Given the description of an element on the screen output the (x, y) to click on. 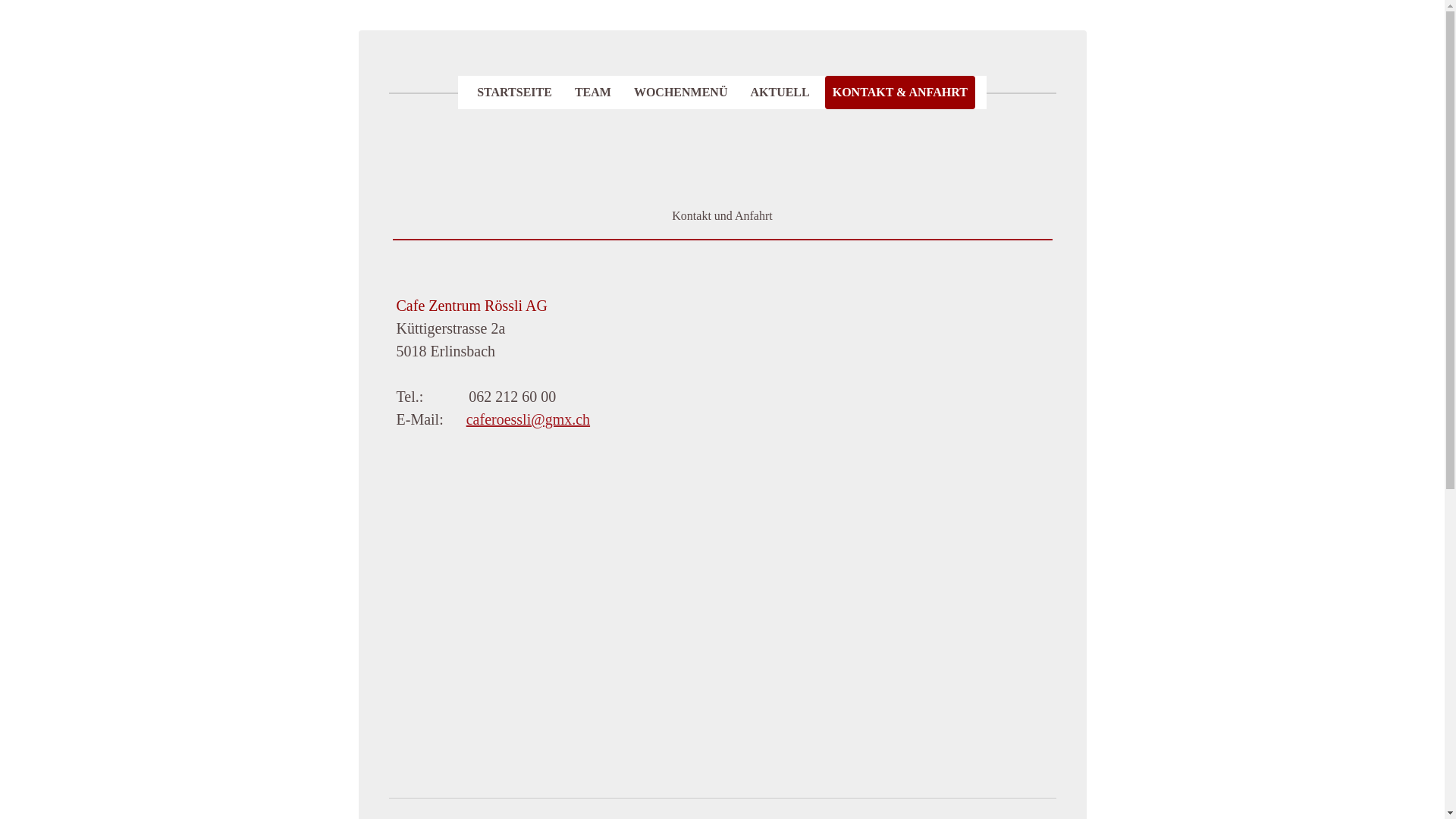
STARTSEITE Element type: text (514, 92)
caferoessli@gmx.ch Element type: text (527, 419)
AKTUELL Element type: text (779, 92)
KONTAKT & ANFAHRT Element type: text (900, 92)
TEAM Element type: text (592, 92)
